Given the description of an element on the screen output the (x, y) to click on. 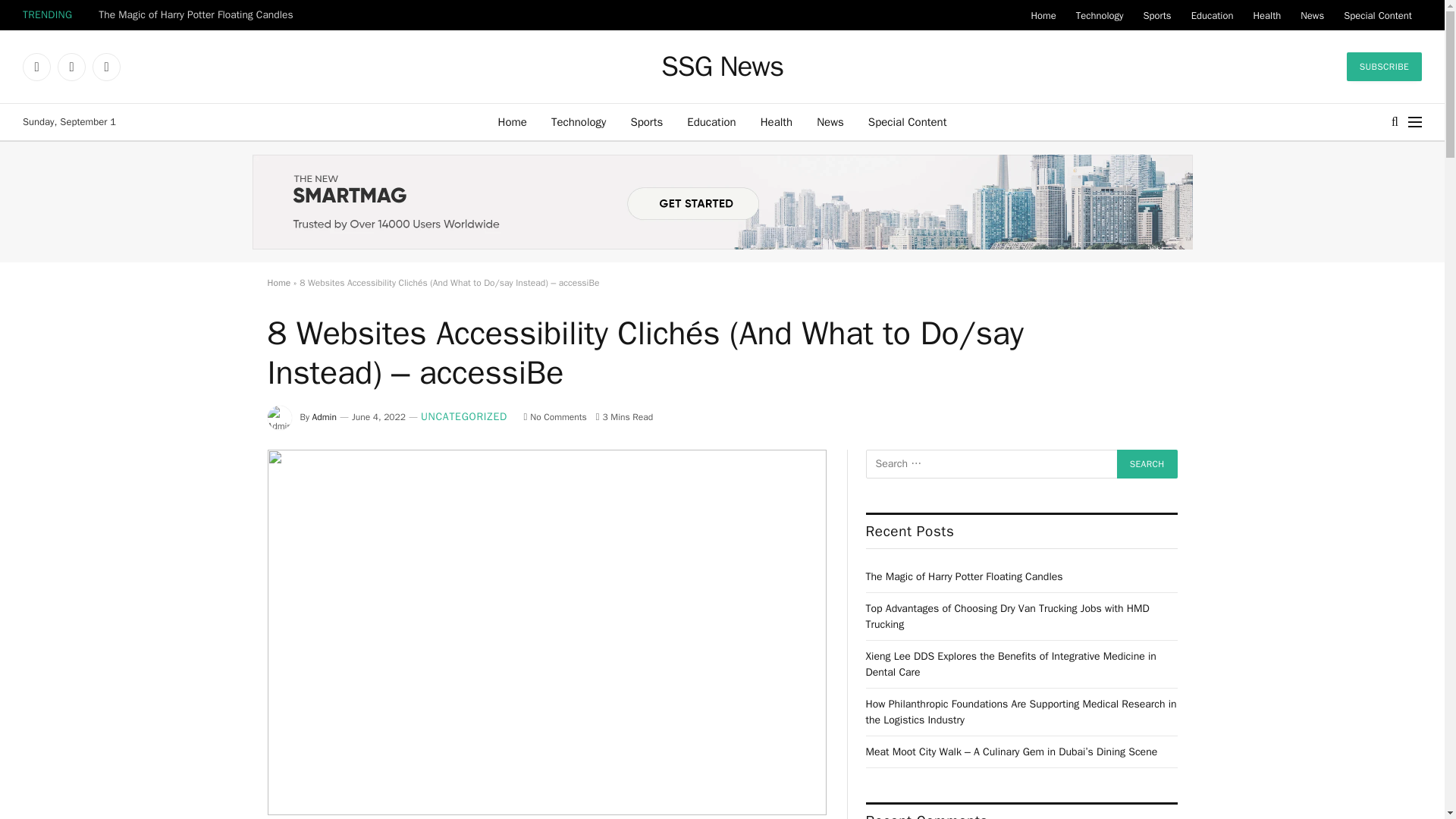
ssgnews.com (722, 66)
Technology (1099, 15)
Special Content (907, 122)
SSG News (722, 66)
The Magic of Harry Potter Floating Candles (199, 15)
Special Content (1377, 15)
Education (711, 122)
News (830, 122)
Home (1042, 15)
Education (1211, 15)
